Given the description of an element on the screen output the (x, y) to click on. 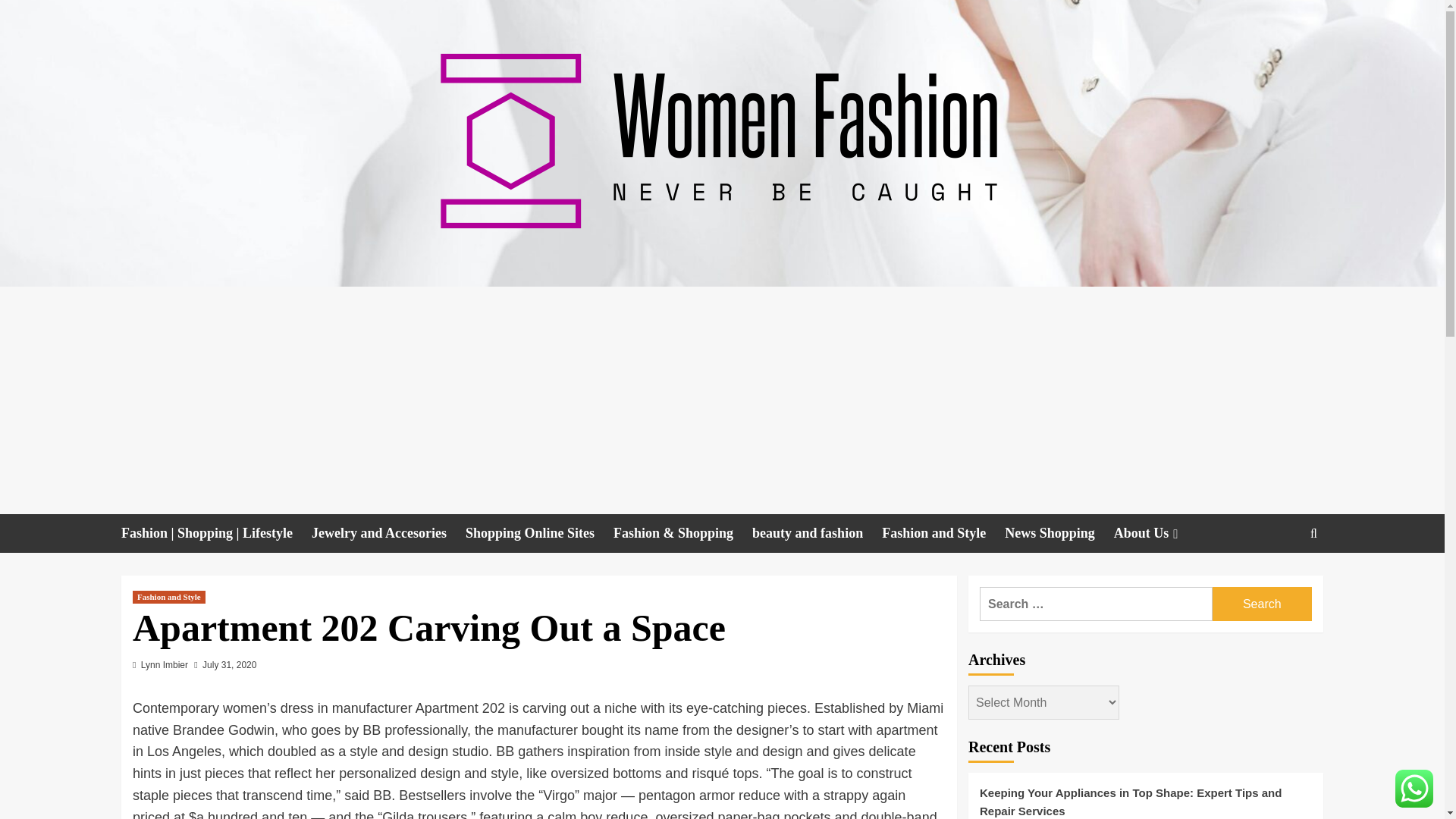
Search (1261, 603)
Lynn Imbier (164, 665)
Fashion and Style (168, 596)
Fashion and Style (943, 533)
Shopping Online Sites (538, 533)
News Shopping (1058, 533)
About Us (1157, 533)
Search (1278, 579)
beauty and fashion (817, 533)
Jewelry and Accesories (388, 533)
Search (1261, 603)
July 31, 2020 (229, 665)
